Given the description of an element on the screen output the (x, y) to click on. 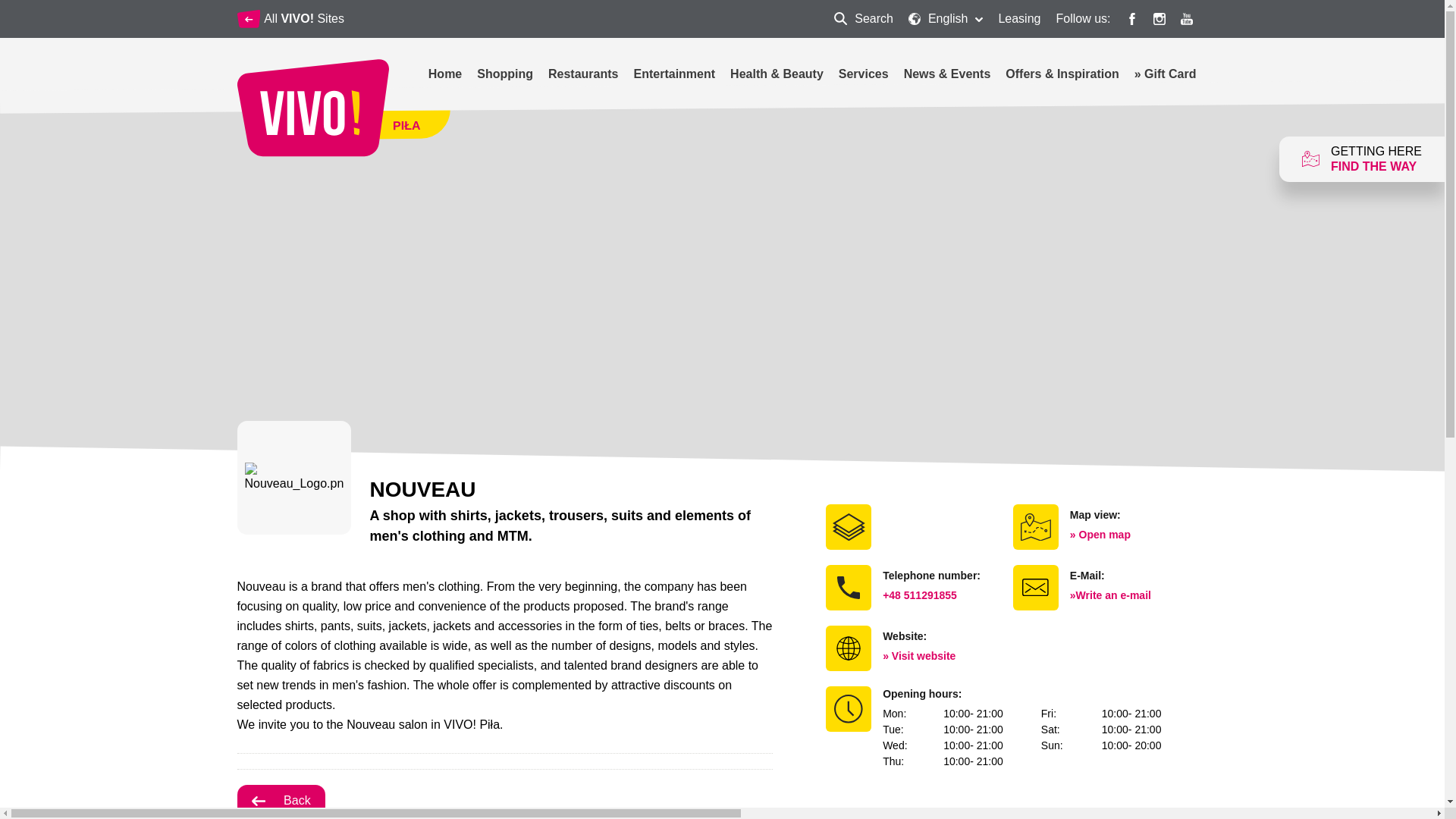
Restaurants (582, 73)
Back (864, 18)
Shopping (279, 800)
Search (505, 73)
Services (864, 18)
Entertainment (863, 73)
Services (673, 73)
Entertainment (863, 73)
Leasing (673, 73)
